Given the description of an element on the screen output the (x, y) to click on. 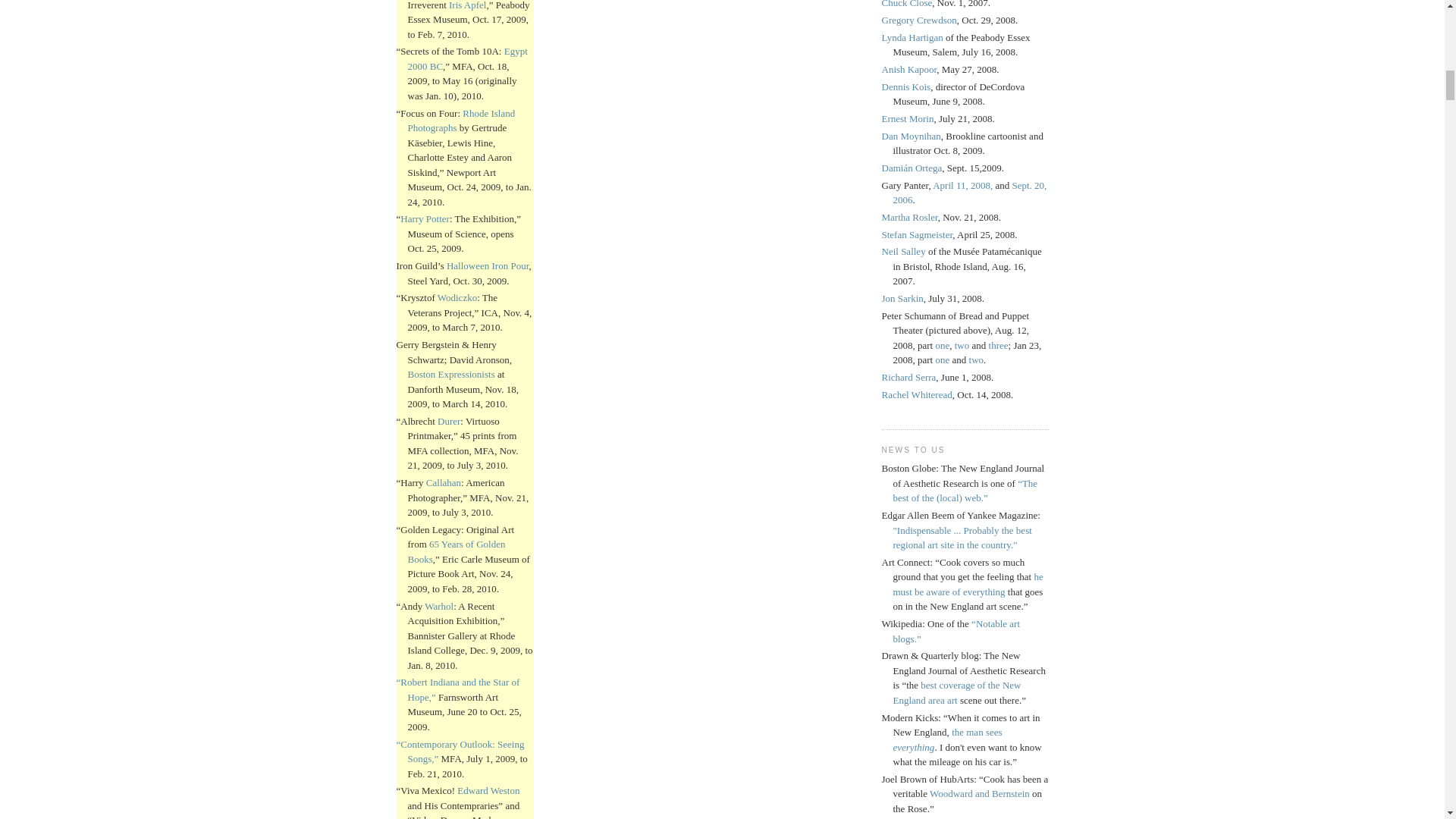
Egypt 2000 BC (467, 58)
Iris Apfel (467, 5)
Harry Potter (424, 218)
Boston Expressionists (451, 374)
Warhol (438, 605)
Wodiczko (457, 297)
Halloween Iron Pour (487, 265)
Callahan (443, 482)
Durer (449, 420)
65 Years of Golden Books (456, 551)
